Given the description of an element on the screen output the (x, y) to click on. 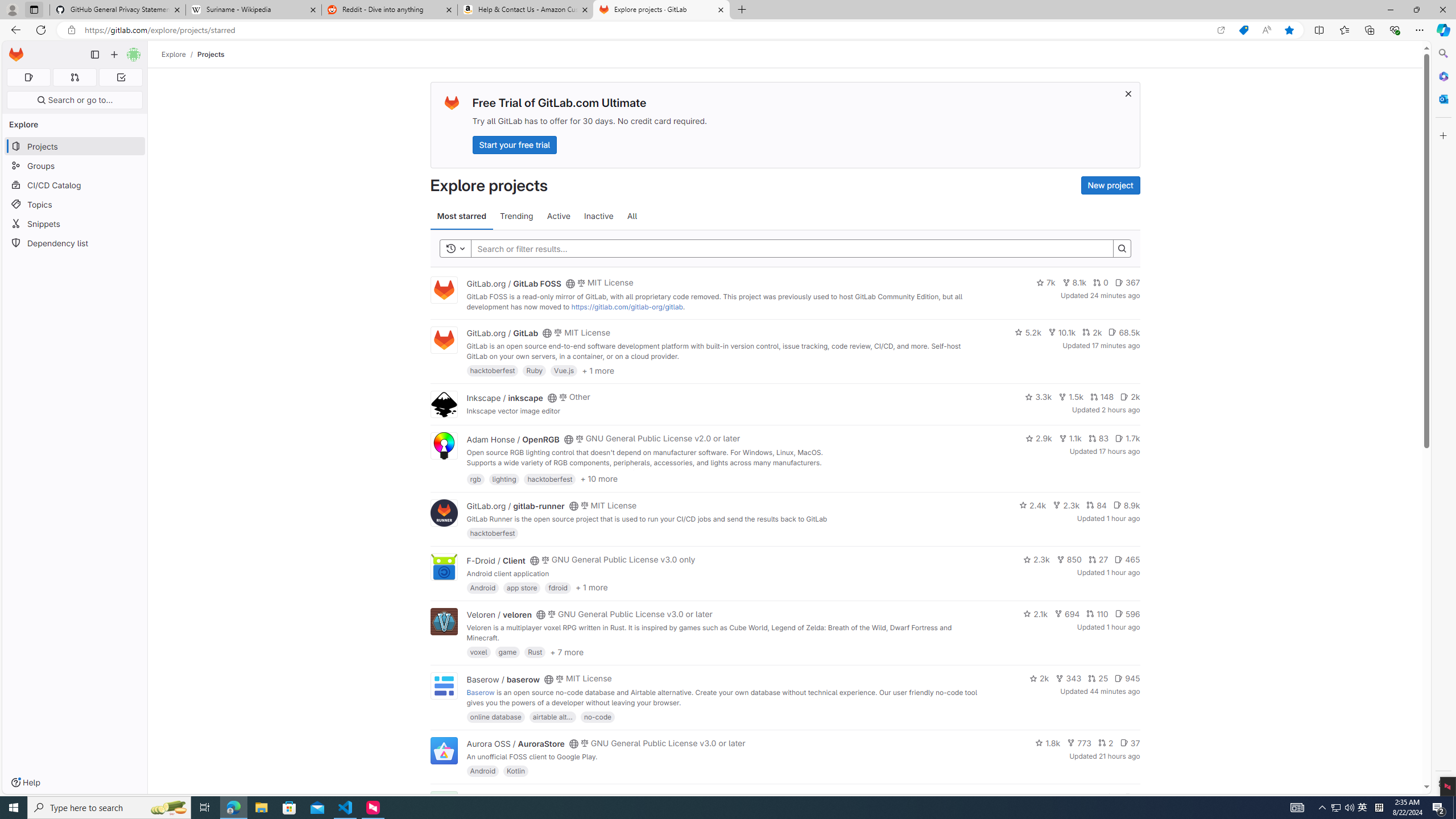
GitLab.org / GitLab FOSS (513, 283)
6 (1132, 797)
Veloren / veloren (498, 614)
1.1k (1069, 438)
2.4k (1032, 504)
+ 1 more (591, 587)
app store (521, 587)
110 (1097, 613)
465 (1127, 559)
Explore (173, 53)
GitHub General Privacy Statement - GitHub Docs (117, 9)
